Given the description of an element on the screen output the (x, y) to click on. 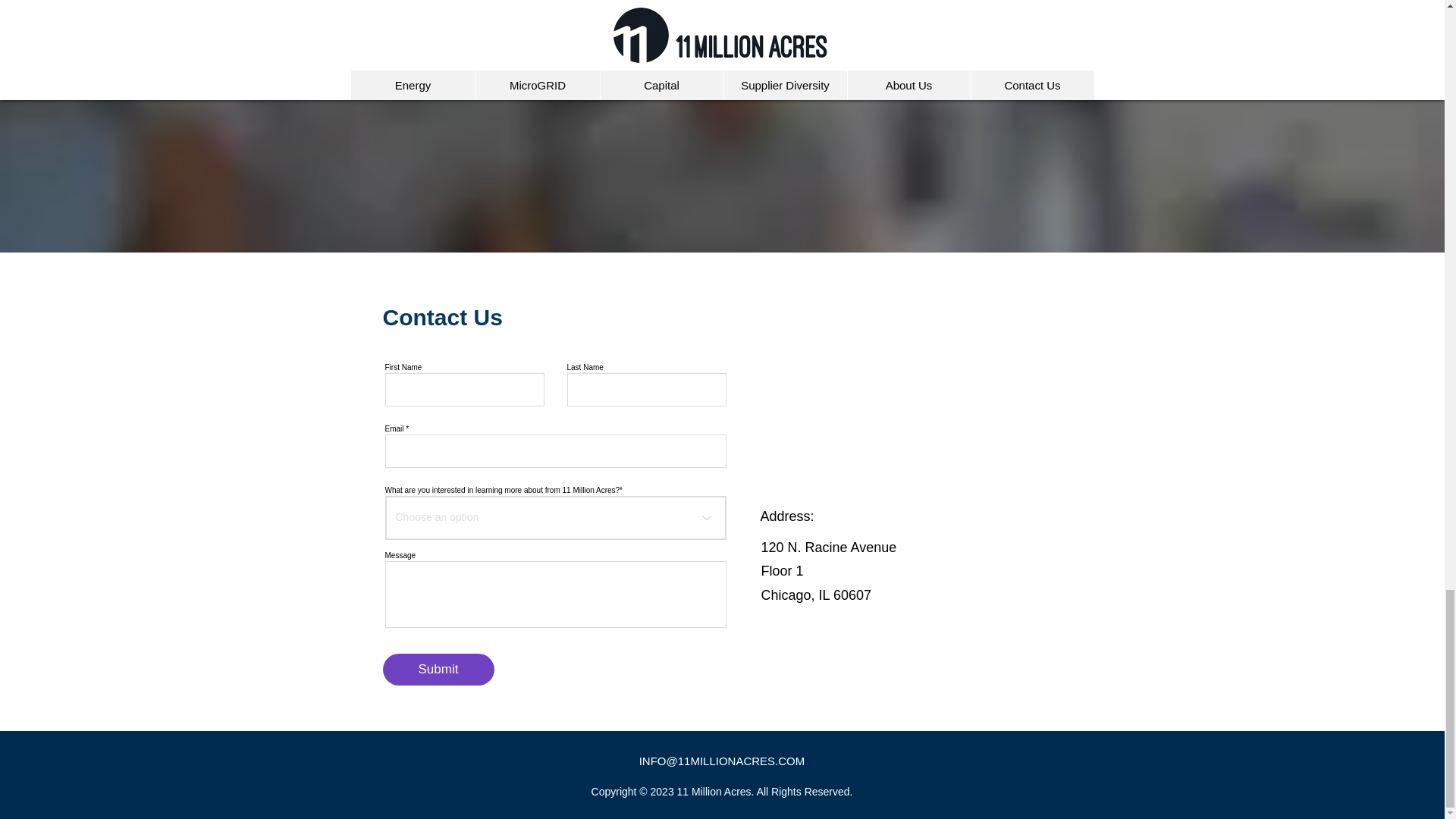
Get Started (722, 13)
Google Maps (924, 377)
Submit (437, 669)
